Given the description of an element on the screen output the (x, y) to click on. 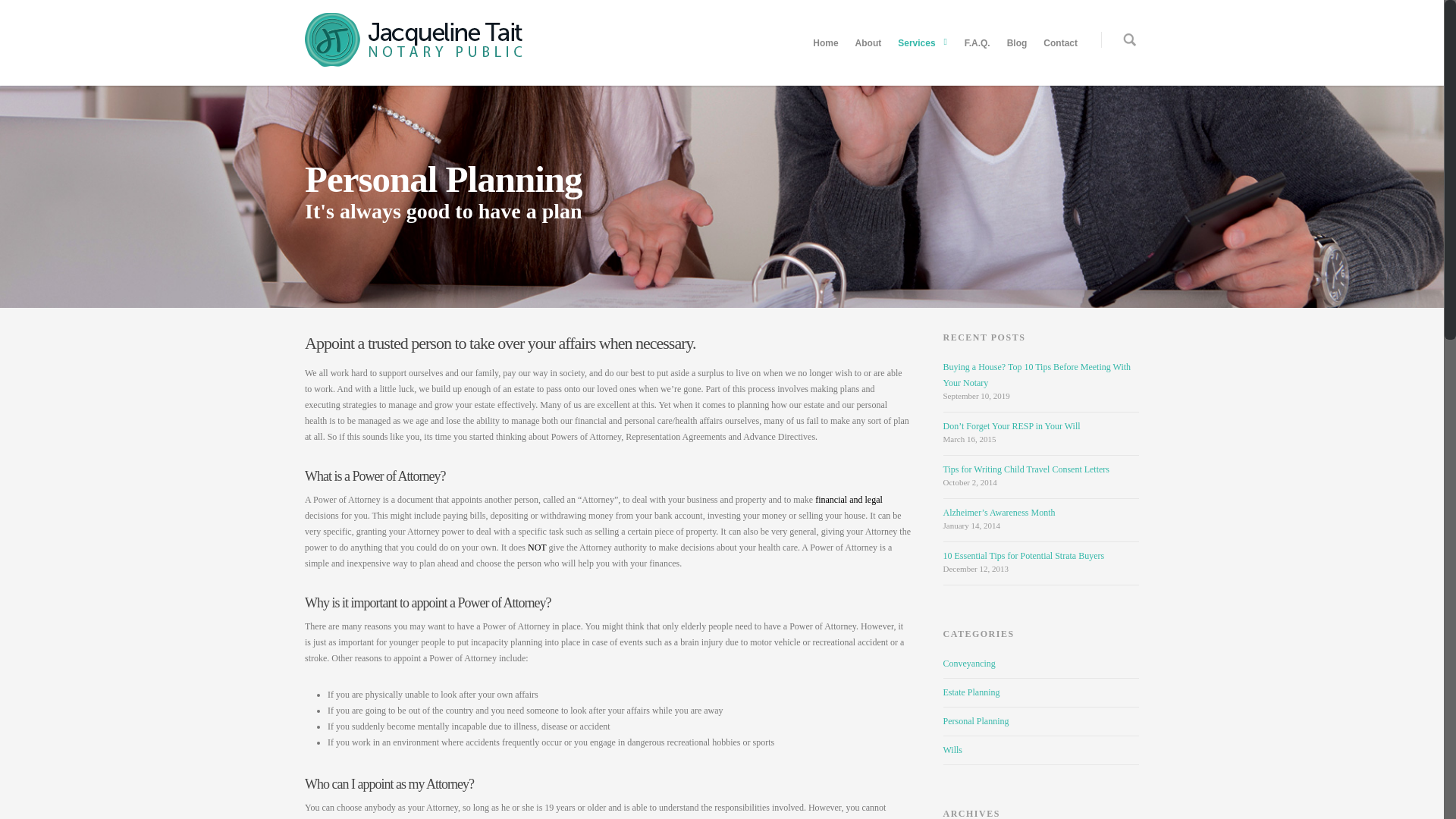
Personal Planning (1041, 721)
Estate Planning (1041, 692)
Wills (1041, 750)
Buying a House? Top 10 Tips Before Meeting With Your Notary (1037, 374)
Conveyancing (1041, 667)
Tips for Writing Child Travel Consent Letters (1026, 469)
10 Essential Tips for Potential Strata Buyers (1024, 555)
